Given the description of an element on the screen output the (x, y) to click on. 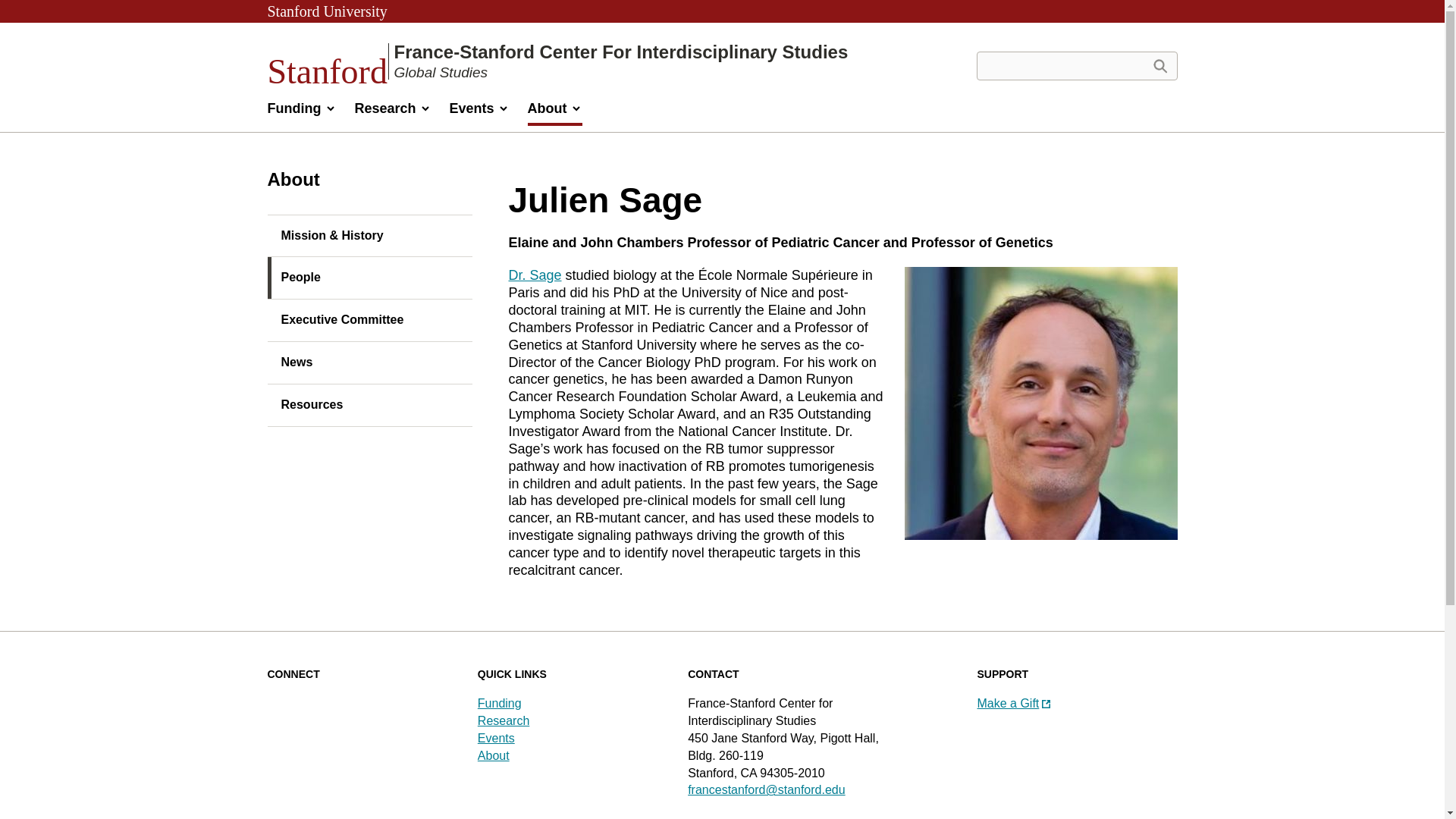
Events (479, 112)
Research (391, 112)
People (368, 278)
Search (1159, 65)
Stanford University (326, 11)
News (368, 363)
About (554, 112)
Funding (301, 112)
Search (1159, 65)
Resources (368, 405)
Make a Gift (1012, 703)
Executive Committee (368, 320)
Dr. Sage (534, 274)
